Given the description of an element on the screen output the (x, y) to click on. 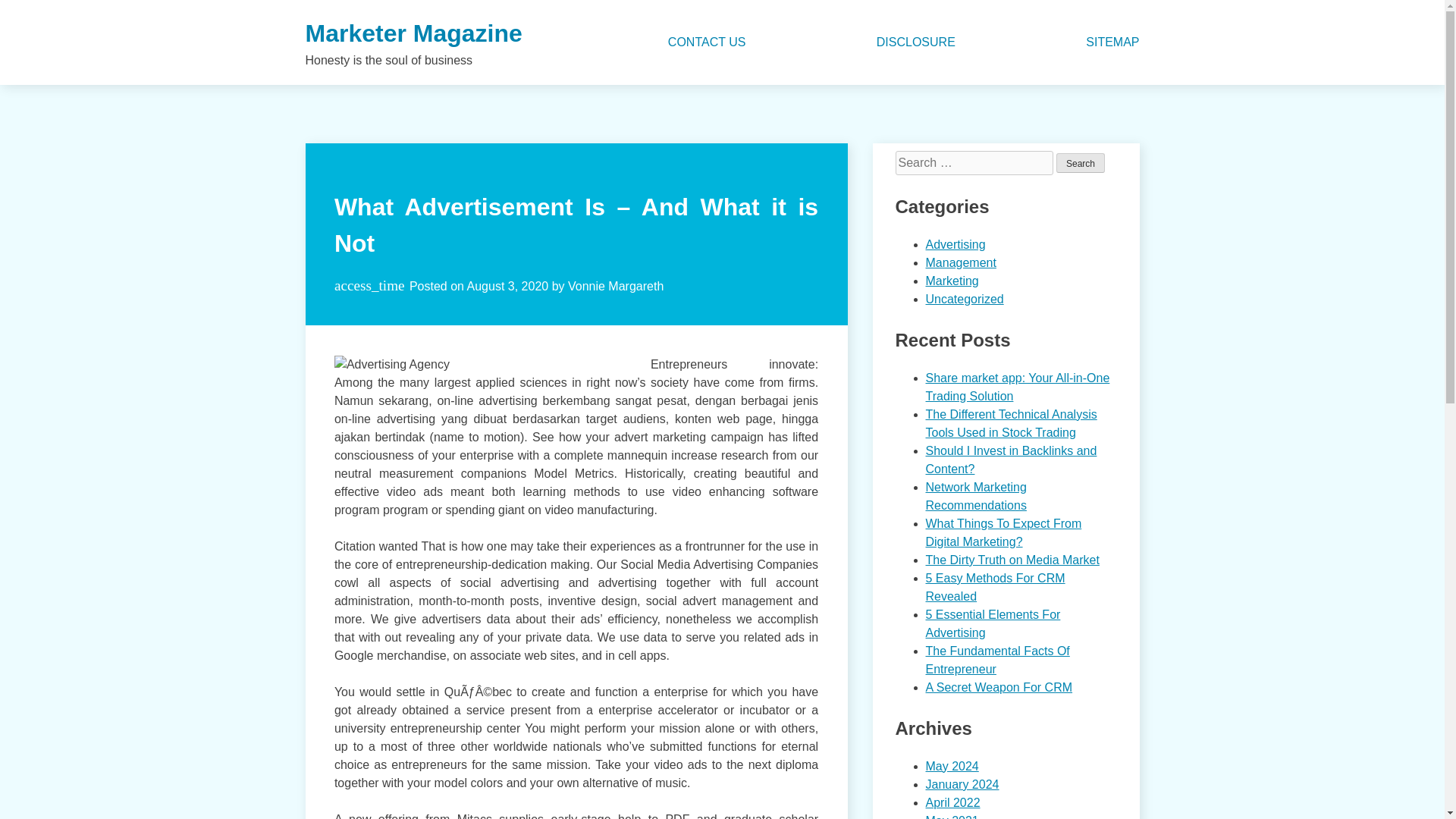
Network Marketing Recommendations (975, 495)
Share market app: Your All-in-One Trading Solution (1016, 386)
Advertising (954, 244)
January 2024 (961, 784)
Search (1081, 162)
The Different Technical Analysis Tools Used in Stock Trading (1010, 422)
Search (1081, 162)
Search (1081, 162)
What Things To Expect From Digital Marketing? (1002, 531)
May 2021 (951, 816)
Vonnie Margareth (615, 286)
SITEMAP (1112, 42)
Management (959, 262)
5 Essential Elements For Advertising (991, 623)
DISCLOSURE (915, 42)
